Given the description of an element on the screen output the (x, y) to click on. 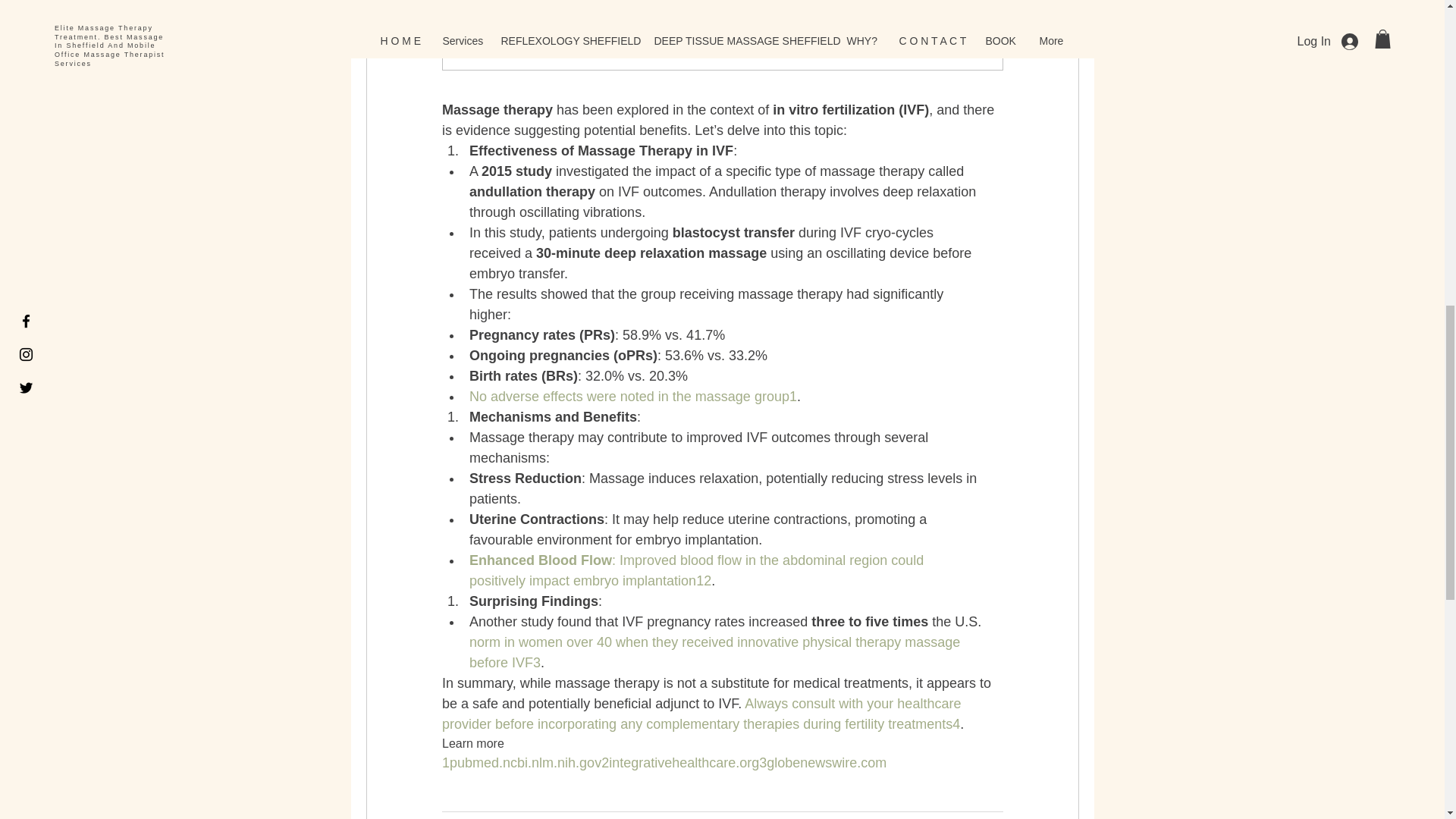
4 (955, 724)
2 (707, 580)
3 (536, 662)
No adverse effects were noted in the massage group1 (632, 396)
Enhanced Blood Flow (539, 560)
